Given the description of an element on the screen output the (x, y) to click on. 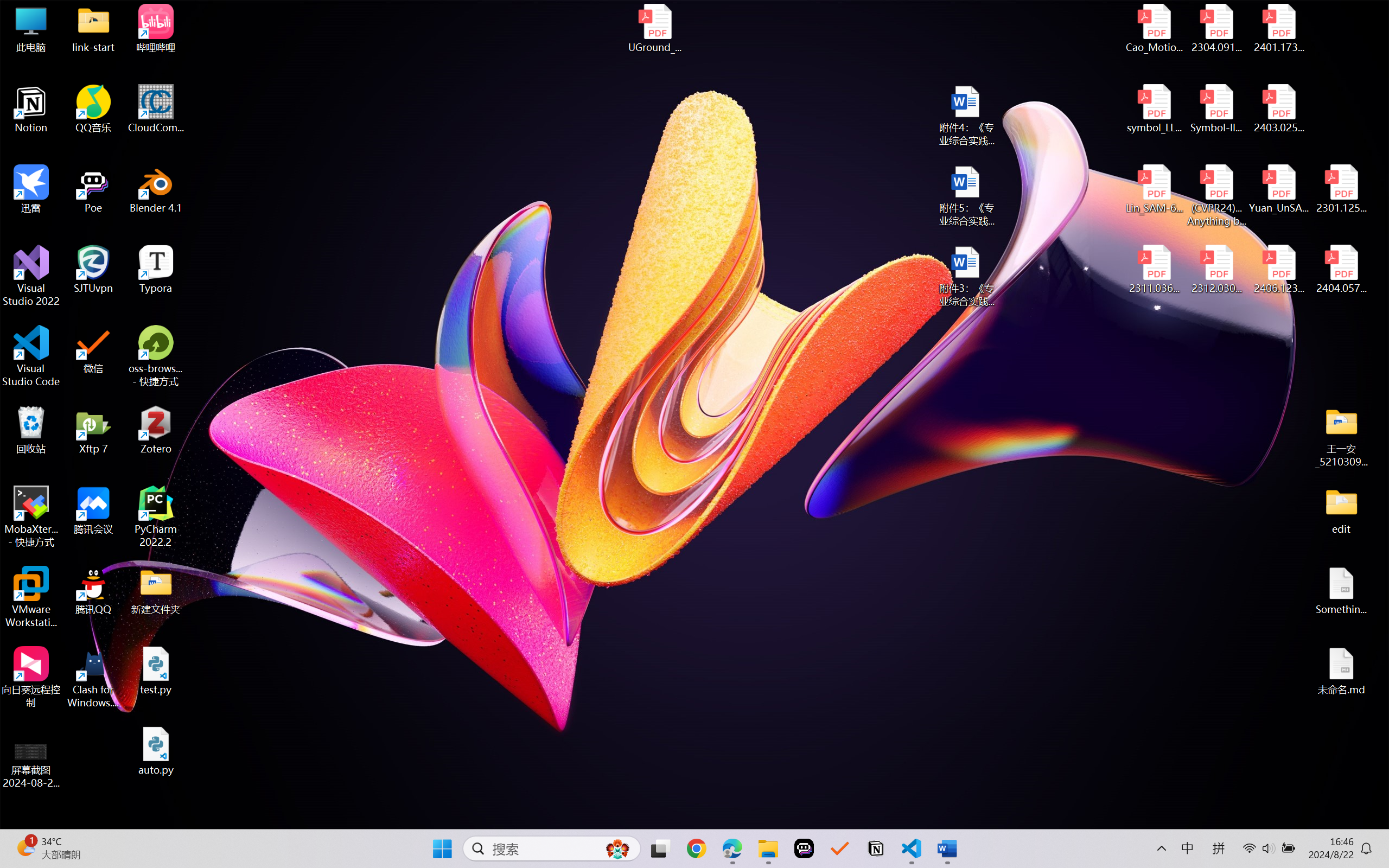
symbol_LLM.pdf (1154, 109)
2406.12373v2.pdf (1278, 269)
UGround_paper.pdf (654, 28)
2304.09121v3.pdf (1216, 28)
Google Chrome (696, 848)
Typora (156, 269)
